Given the description of an element on the screen output the (x, y) to click on. 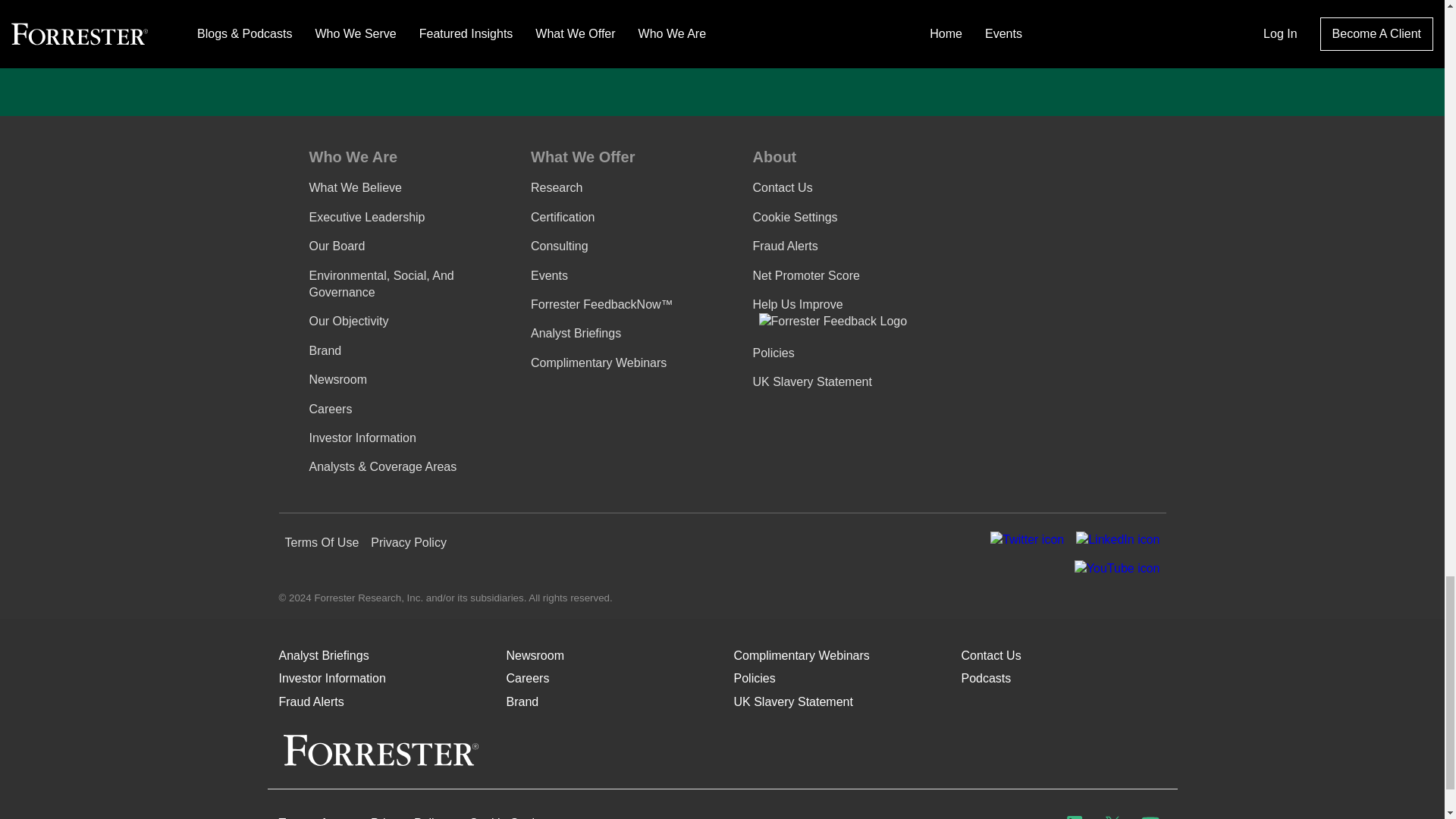
Subscribe Now (949, 32)
